Given the description of an element on the screen output the (x, y) to click on. 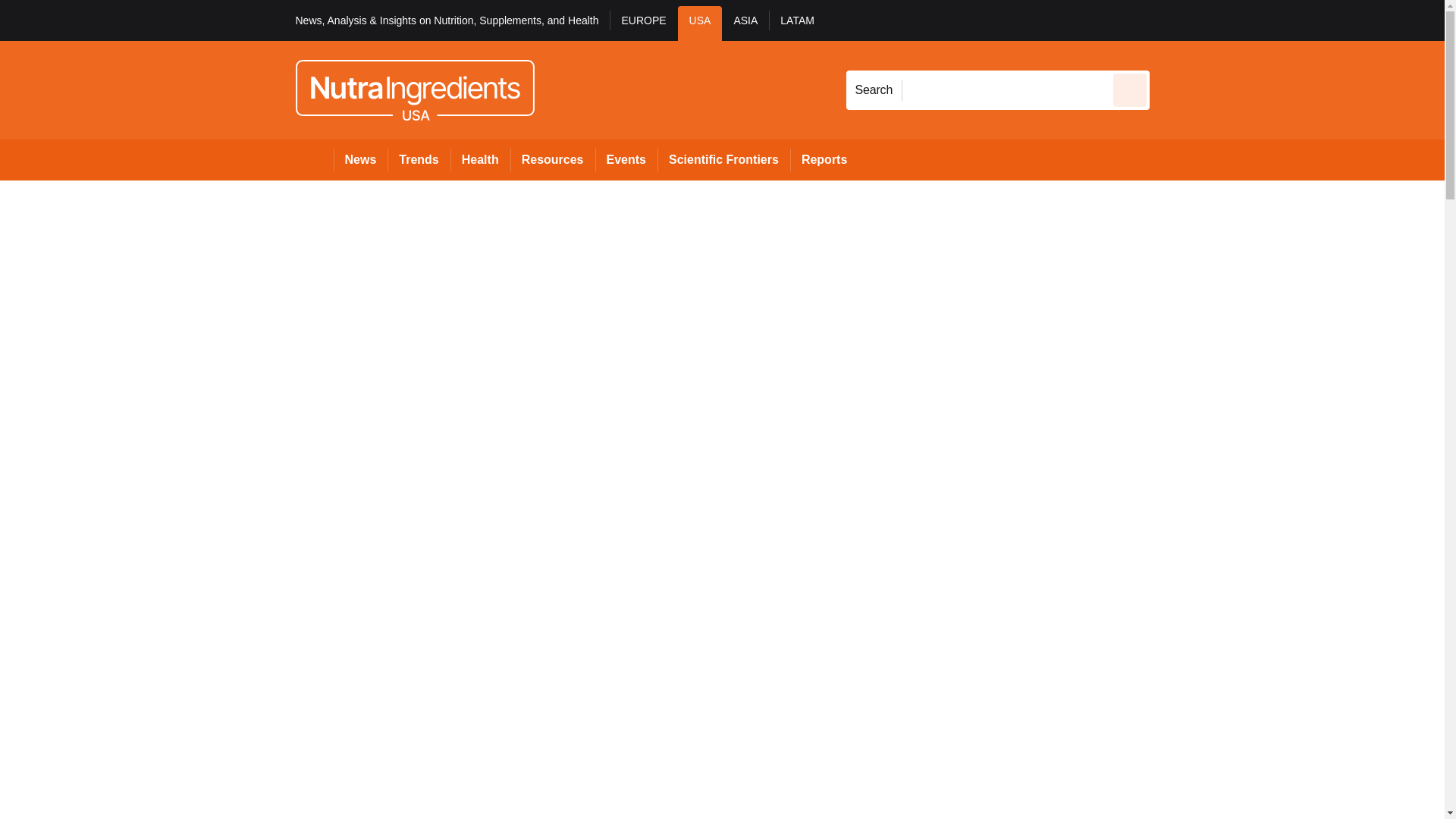
Sign out (1174, 20)
Register (1231, 20)
EUROPE (643, 22)
USA (700, 22)
Home (313, 159)
NutraIngredients USA (414, 89)
Home (314, 159)
Send (1129, 90)
Trends (418, 159)
SUBSCRIBE (1318, 20)
My account (1256, 20)
SUBSCRIBE (1362, 20)
ASIA (745, 22)
News (360, 159)
Send (1129, 89)
